Given the description of an element on the screen output the (x, y) to click on. 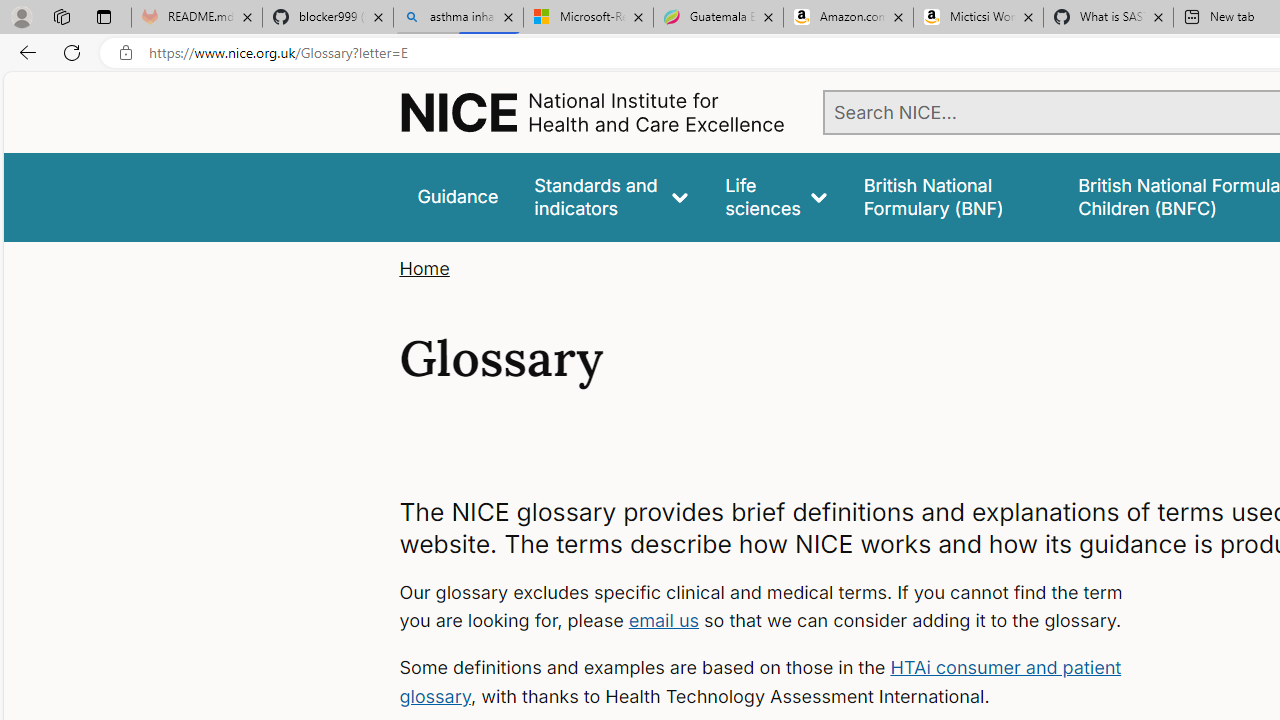
asthma inhaler - Search (458, 17)
Guidance (458, 196)
email us (664, 620)
Close tab (1158, 16)
Life sciences (776, 196)
Back (24, 52)
Life sciences (776, 196)
Home (424, 268)
Home (424, 268)
